Given the description of an element on the screen output the (x, y) to click on. 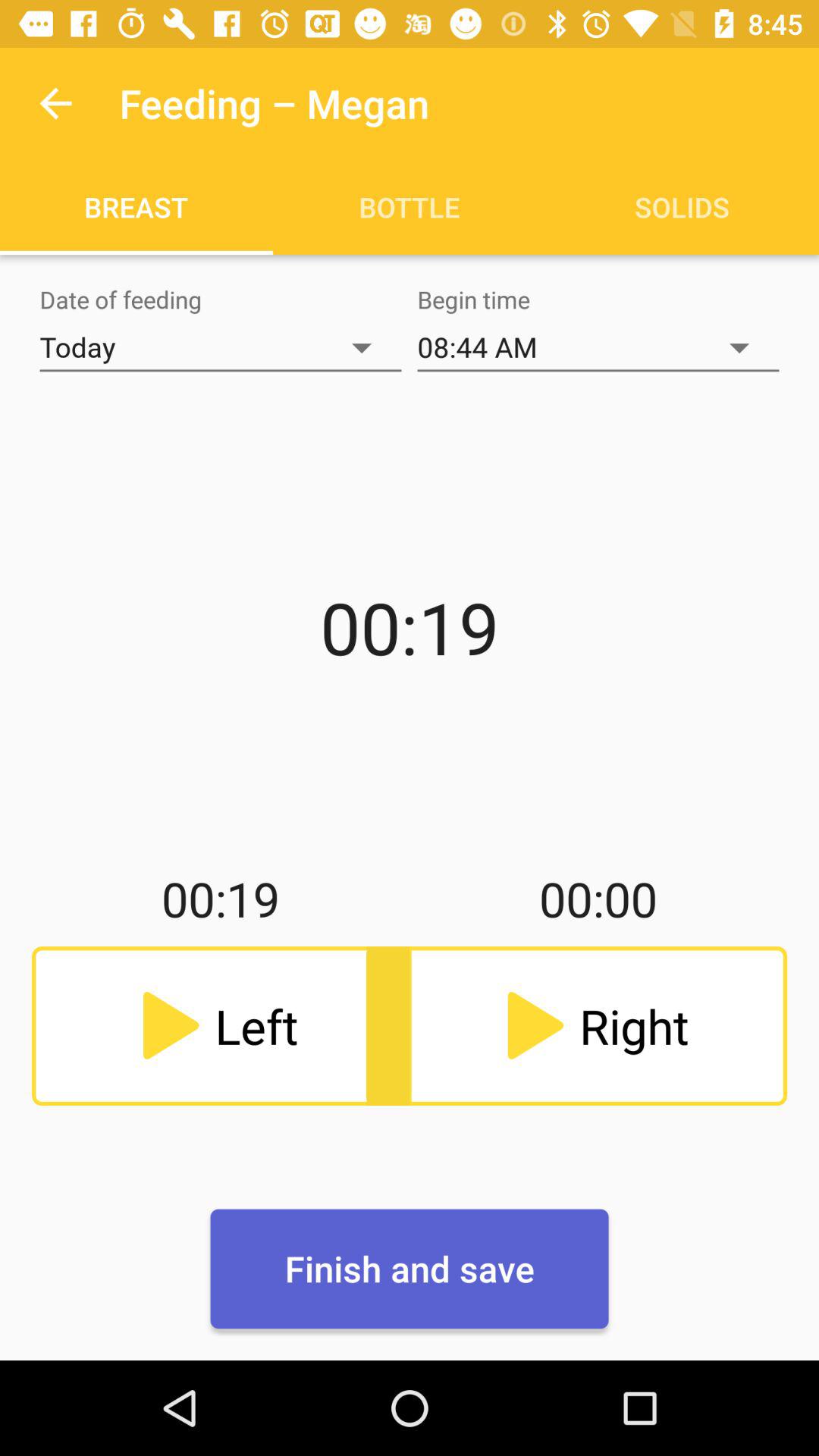
launch the 08:44 am item (598, 347)
